Given the description of an element on the screen output the (x, y) to click on. 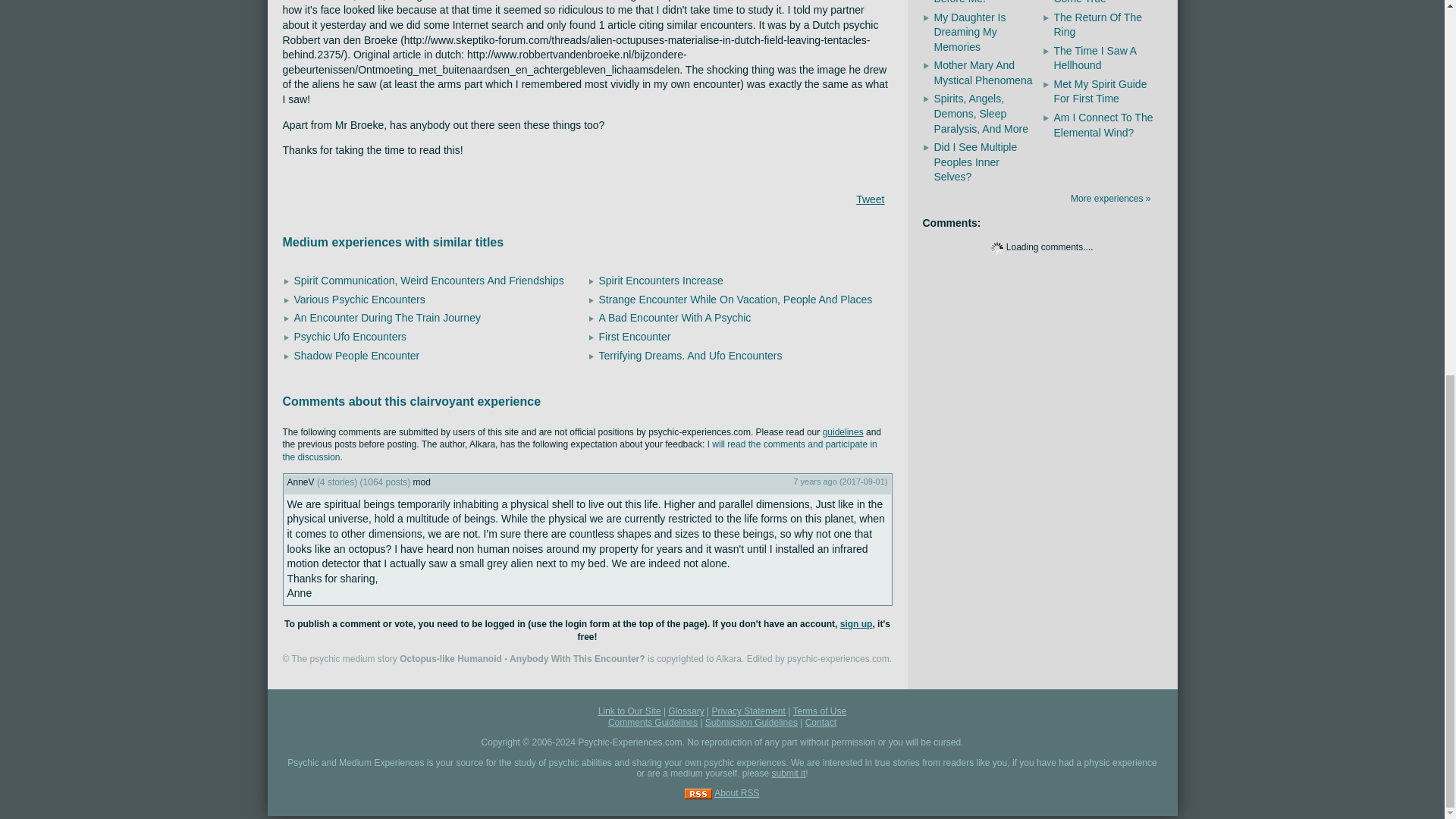
Strange Encounter While On Vacation, People And Places (735, 299)
Shadow People Encounter (357, 355)
Various Psychic Encounters (359, 299)
First Encounter (634, 336)
Spirit Encounters Increase (660, 280)
An Encounter During The Train Journey (387, 317)
Terrifying Dreams. And Ufo Encounters (690, 355)
guidelines (842, 430)
Tweet (869, 199)
A Bad Encounter With A Psychic (674, 317)
